Given the description of an element on the screen output the (x, y) to click on. 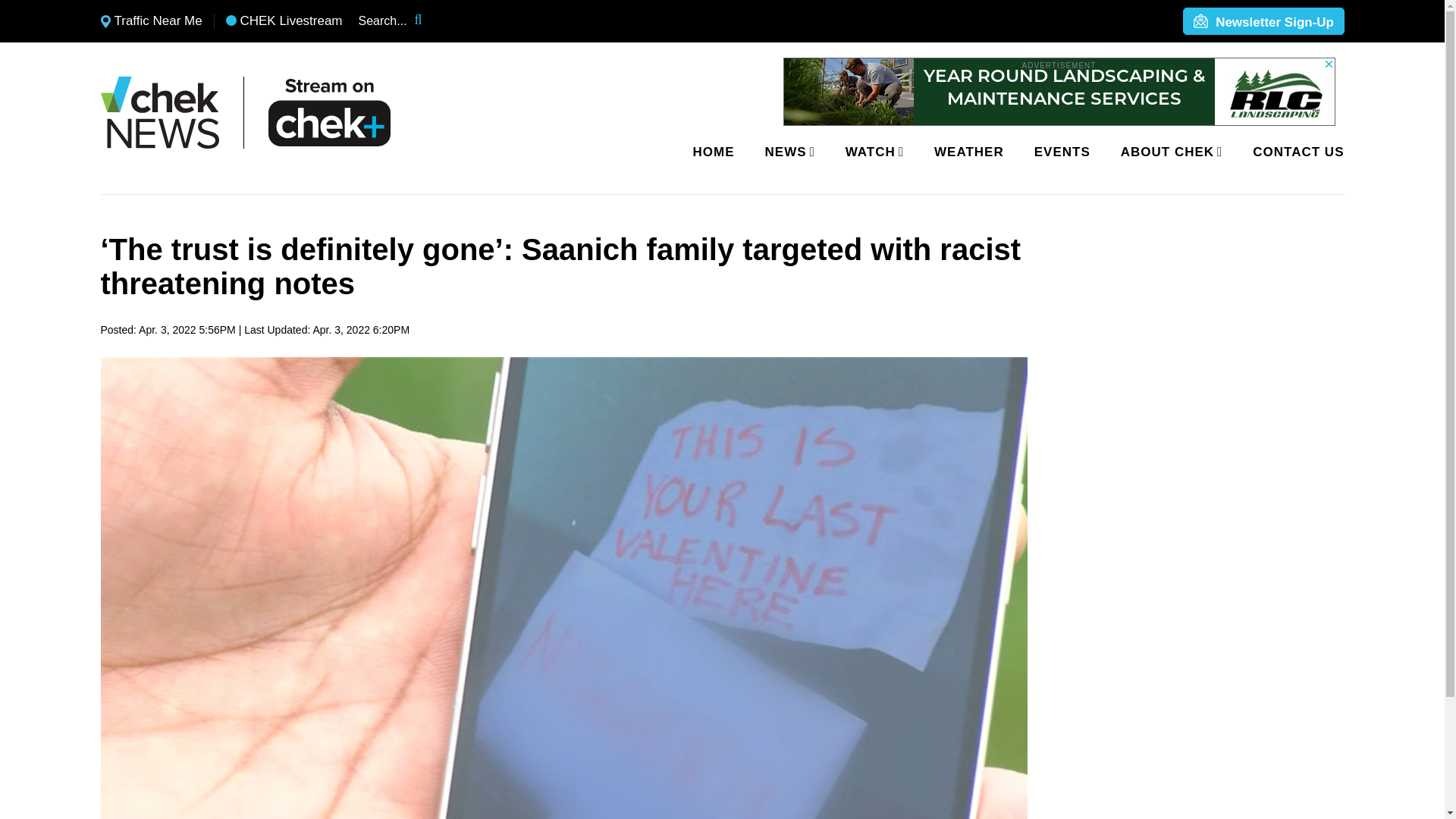
CHEK Livestream (283, 20)
Search (428, 21)
3rd party ad content (1059, 91)
HOME (714, 152)
Traffic Near Me (151, 20)
Newsletter Sign-Up (1262, 22)
NEWS (787, 152)
